Given the description of an element on the screen output the (x, y) to click on. 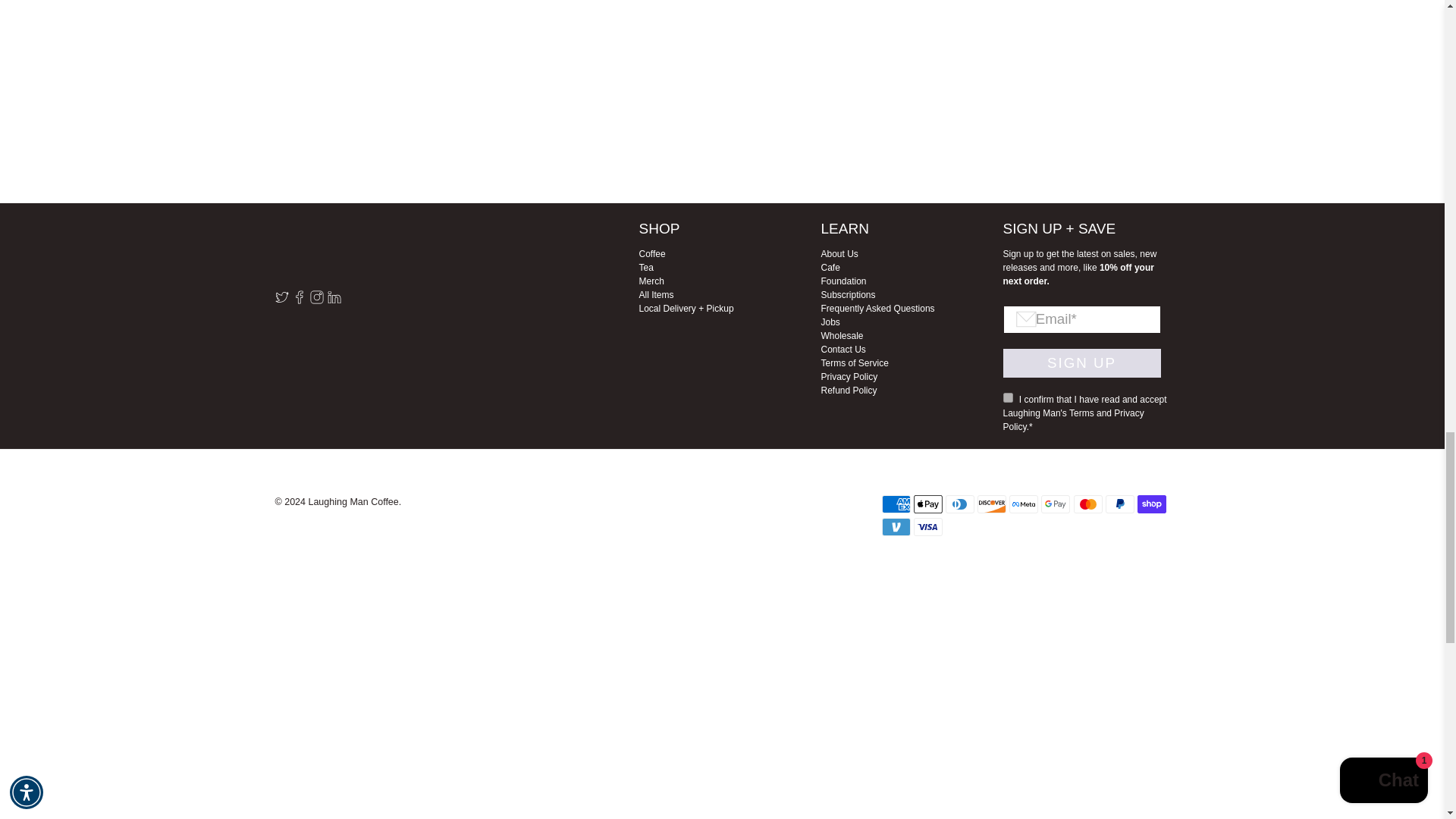
Visa (928, 526)
Laughing Man Coffee (358, 251)
PayPal (1119, 504)
Mastercard (1088, 504)
Meta Pay (1023, 504)
Laughing Man Coffee on Facebook (298, 300)
Privacy Policy (1072, 419)
on (1007, 397)
Apple Pay (928, 504)
Terms of Service (1081, 412)
Discover (991, 504)
Venmo (895, 526)
Laughing Man Coffee on LinkedIn (333, 300)
Diners Club (959, 504)
Laughing Man Coffee on Instagram (315, 300)
